Given the description of an element on the screen output the (x, y) to click on. 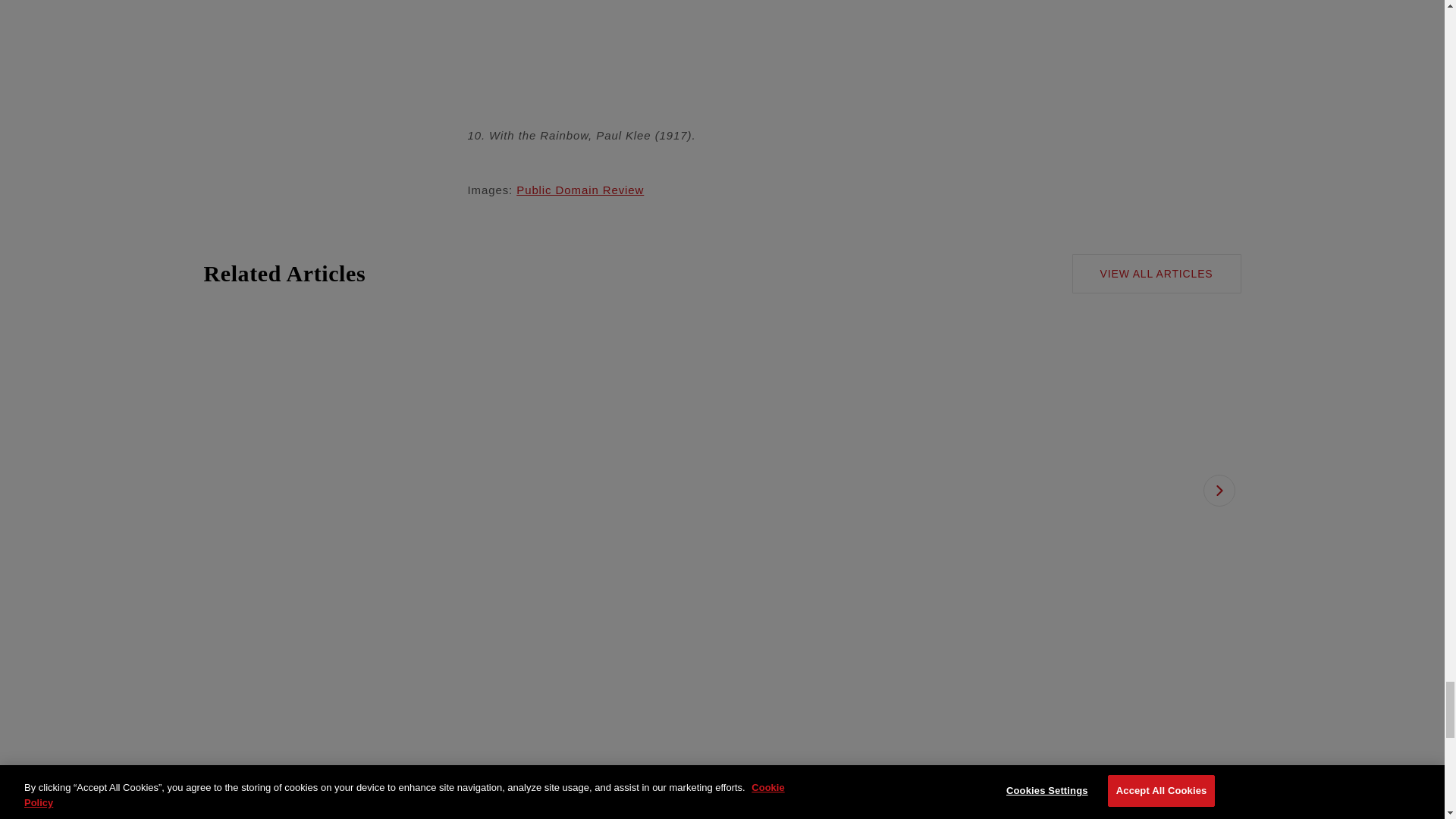
VIEW ALL ARTICLES (1156, 273)
Public Domain Review (579, 189)
next (1218, 490)
